Given the description of an element on the screen output the (x, y) to click on. 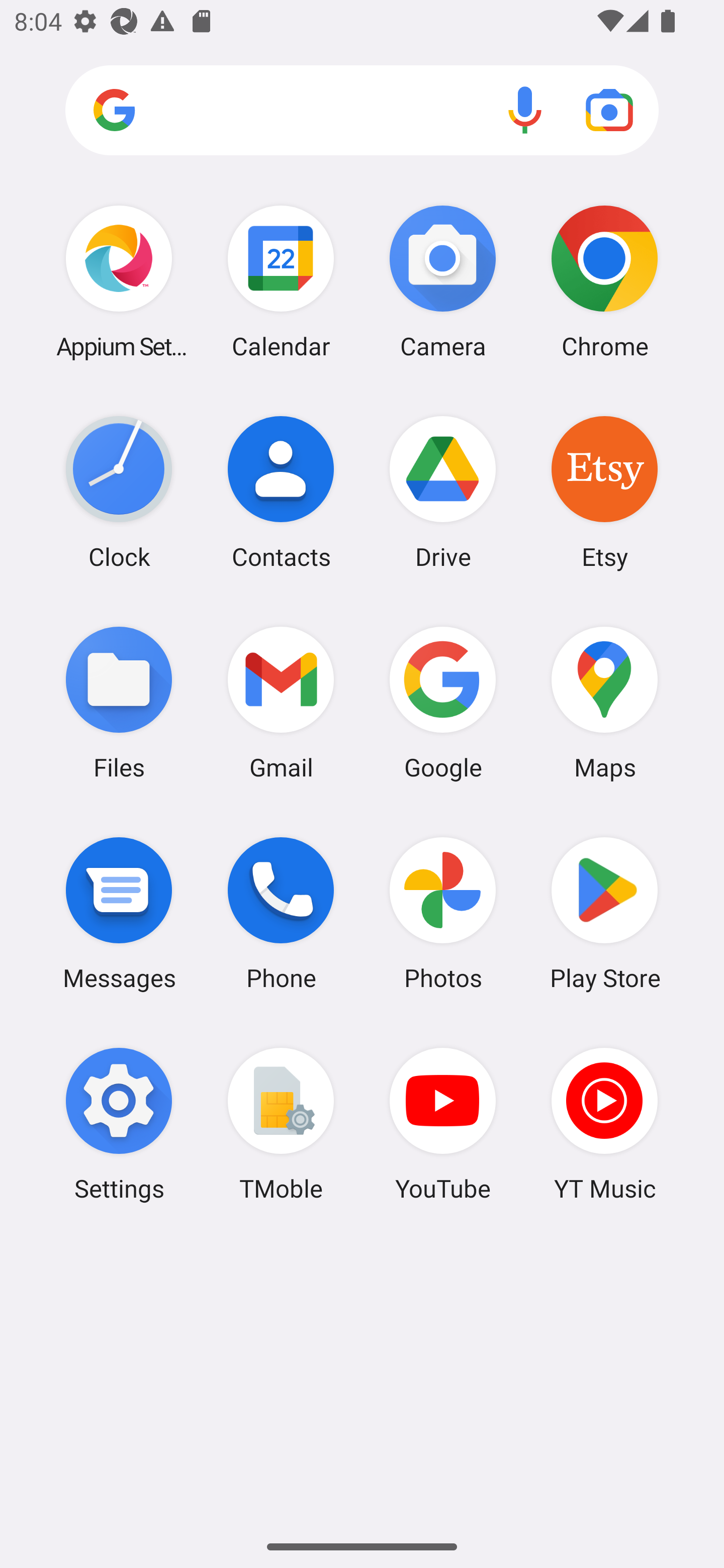
Search apps, web and more (361, 110)
Voice search (524, 109)
Google Lens (608, 109)
Appium Settings (118, 281)
Calendar (280, 281)
Camera (443, 281)
Chrome (604, 281)
Clock (118, 492)
Contacts (280, 492)
Drive (443, 492)
Etsy (604, 492)
Files (118, 702)
Gmail (280, 702)
Google (443, 702)
Maps (604, 702)
Messages (118, 913)
Phone (280, 913)
Photos (443, 913)
Play Store (604, 913)
Settings (118, 1124)
TMoble (280, 1124)
YouTube (443, 1124)
YT Music (604, 1124)
